Given the description of an element on the screen output the (x, y) to click on. 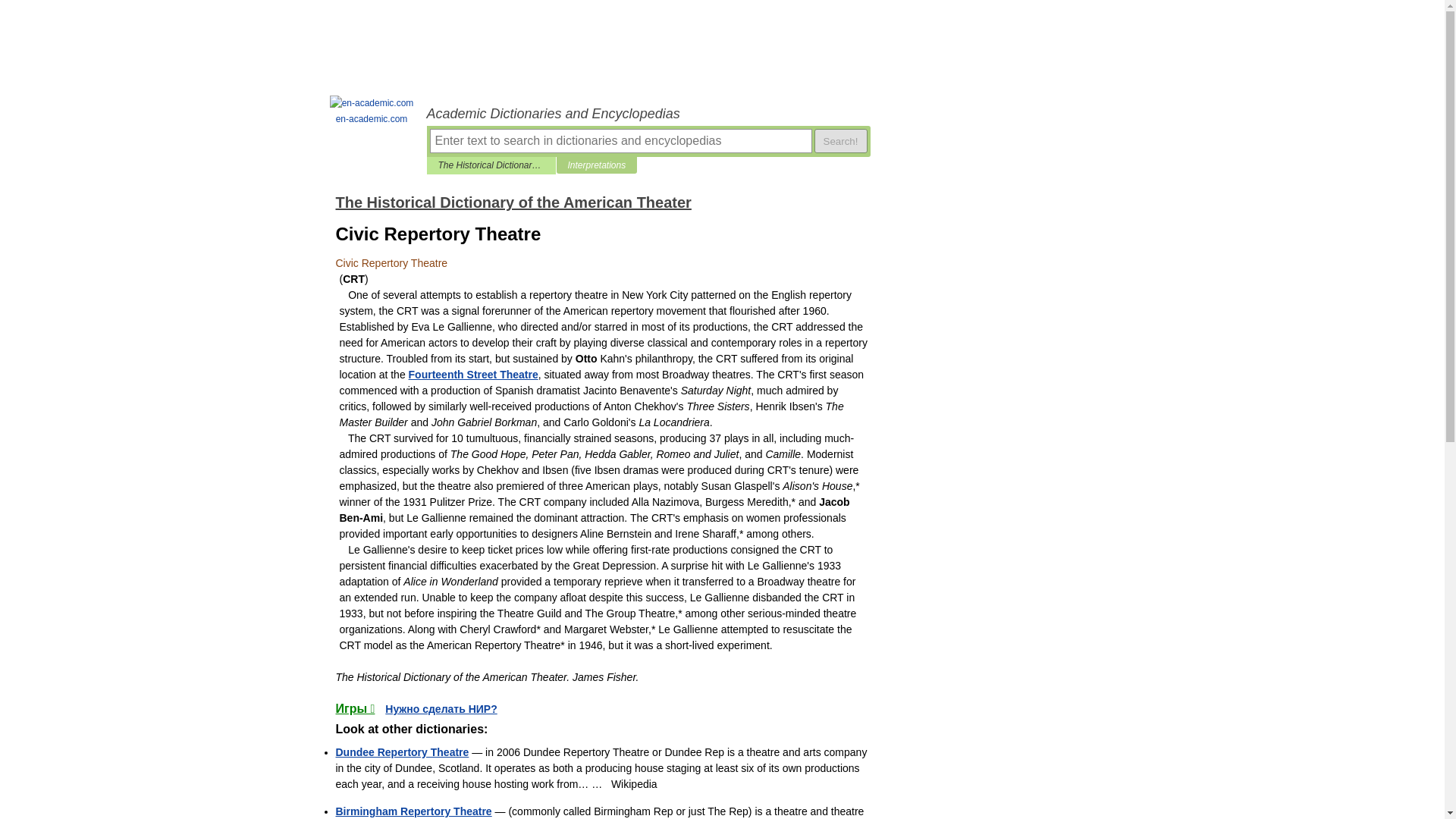
Birmingham Repertory Theatre (413, 811)
Search! (840, 140)
Enter text to search in dictionaries and encyclopedias (619, 140)
Fourteenth Street Theatre (473, 374)
The Historical Dictionary of the American Theater (512, 202)
Dundee Repertory Theatre (401, 752)
en-academic.com (371, 111)
Academic Dictionaries and Encyclopedias (647, 114)
Interpretations (596, 165)
The Historical Dictionary of the American Theater (491, 165)
